Given the description of an element on the screen output the (x, y) to click on. 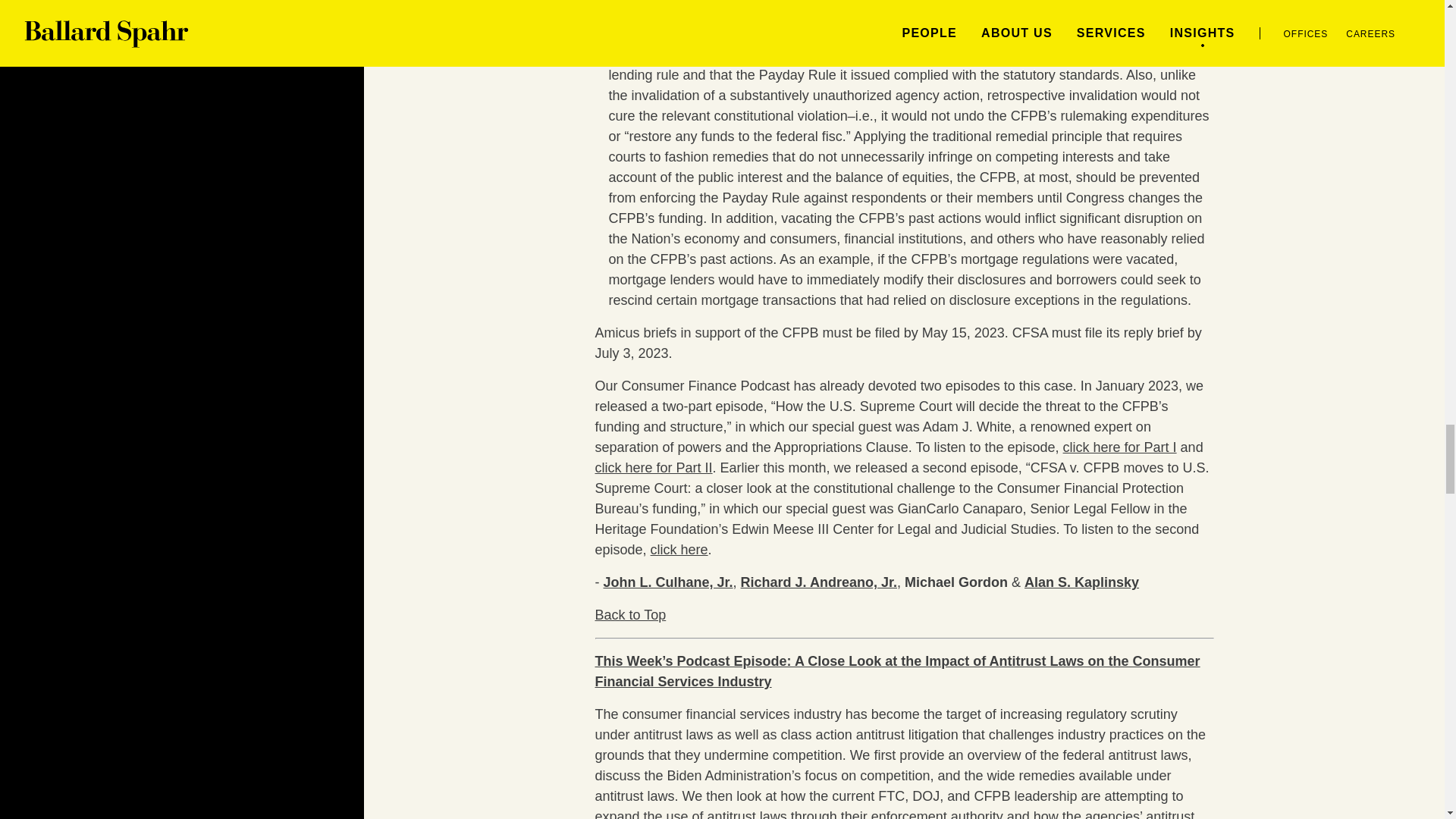
click here for Part II (652, 467)
click here (678, 549)
Alan S. Kaplinsky (1081, 581)
John L. Culhane, Jr. (668, 581)
Back to Top (629, 614)
click here for Part I (1119, 447)
Richard J. Andreano, Jr. (818, 581)
